Given the description of an element on the screen output the (x, y) to click on. 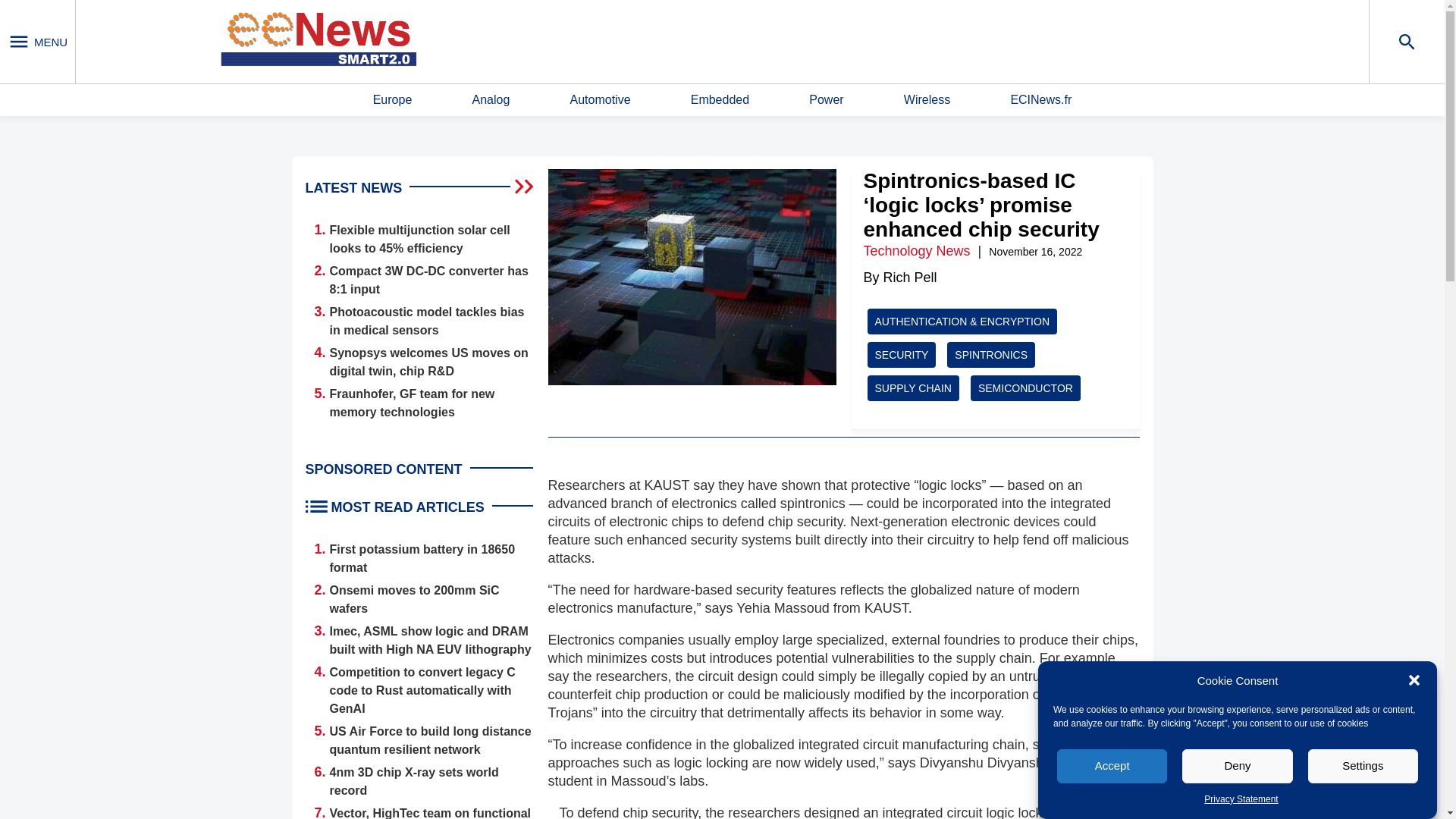
Power (826, 99)
Automotive (599, 99)
Europe (392, 99)
Analog (490, 99)
Wireless (927, 99)
Embedded (719, 99)
ECINews.fr (1040, 99)
